Given the description of an element on the screen output the (x, y) to click on. 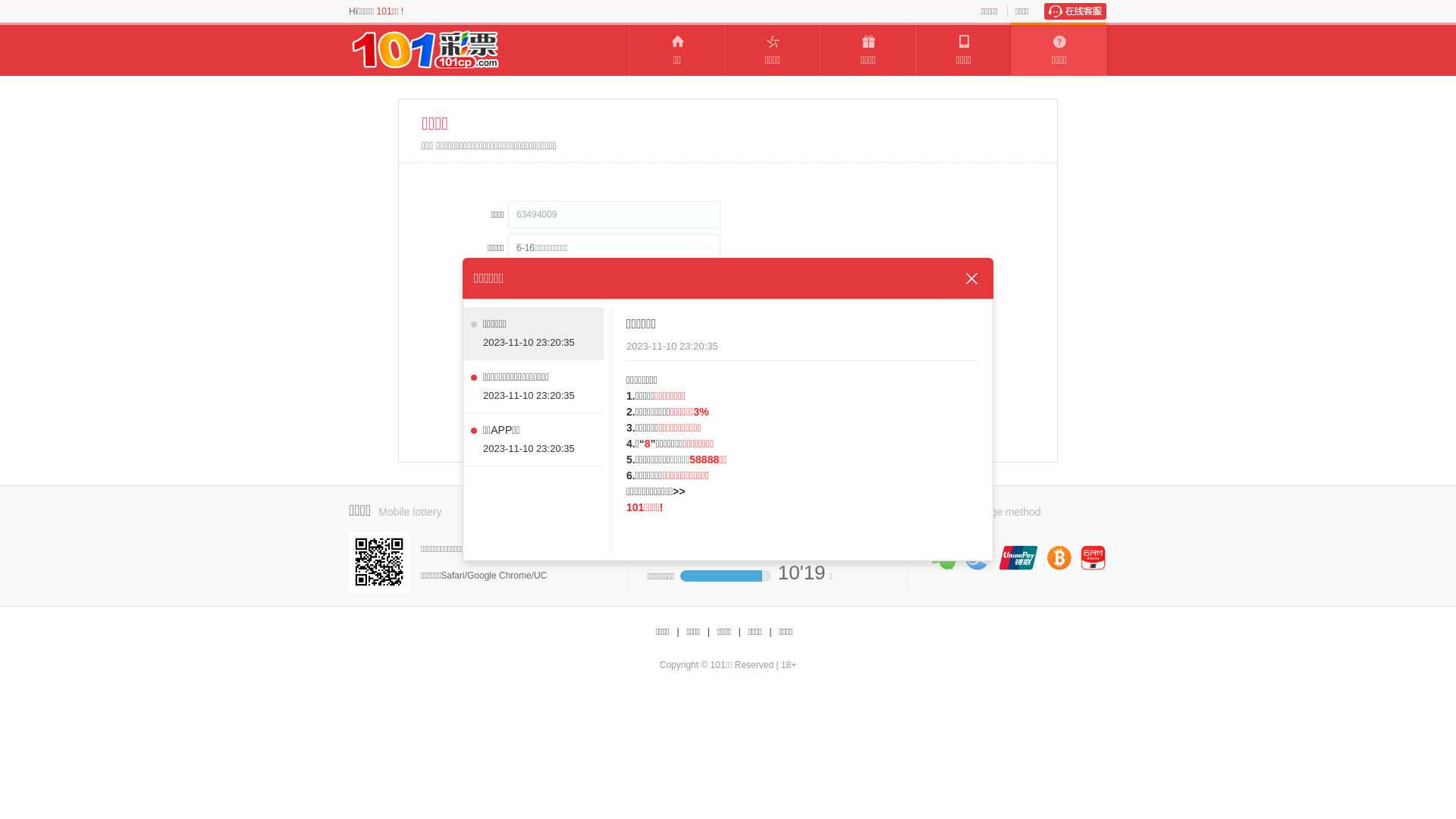
| Element type: text (739, 631)
| Element type: text (769, 631)
| Element type: text (708, 631)
| Element type: text (677, 631)
